Given the description of an element on the screen output the (x, y) to click on. 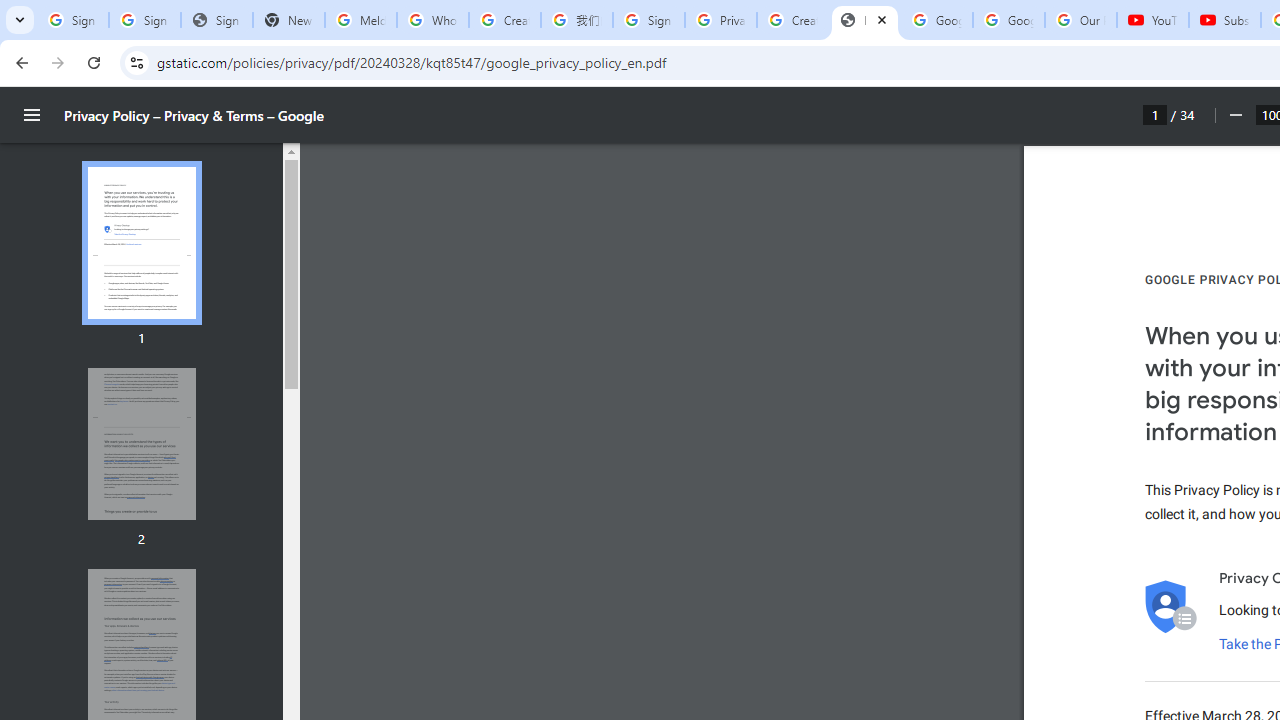
Subscriptions - YouTube (1224, 20)
Sign in - Google Accounts (144, 20)
Zoom out (1234, 115)
Sign In - USA TODAY (216, 20)
Google Account (1008, 20)
Page number (1155, 114)
Create your Google Account (792, 20)
AutomationID: thumbnail (141, 443)
Create your Google Account (504, 20)
